Given the description of an element on the screen output the (x, y) to click on. 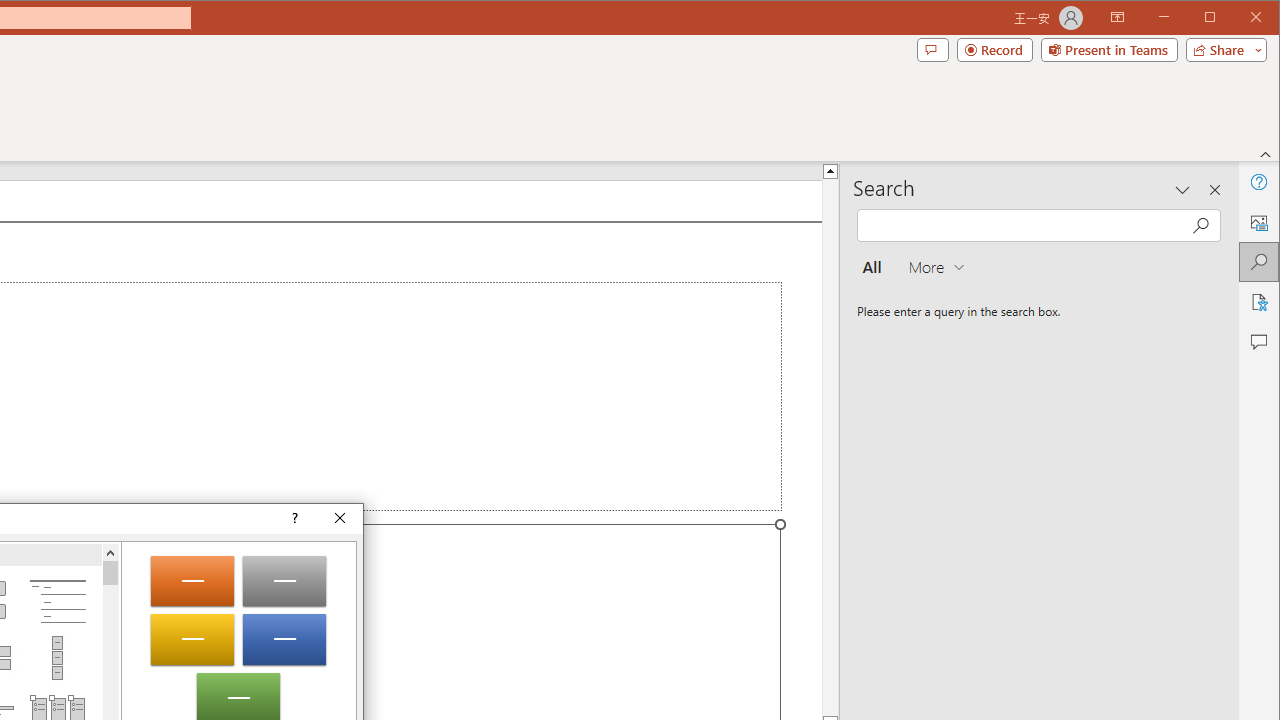
Varying Width List (57, 658)
Context help (293, 518)
Lined List (57, 601)
